Given the description of an element on the screen output the (x, y) to click on. 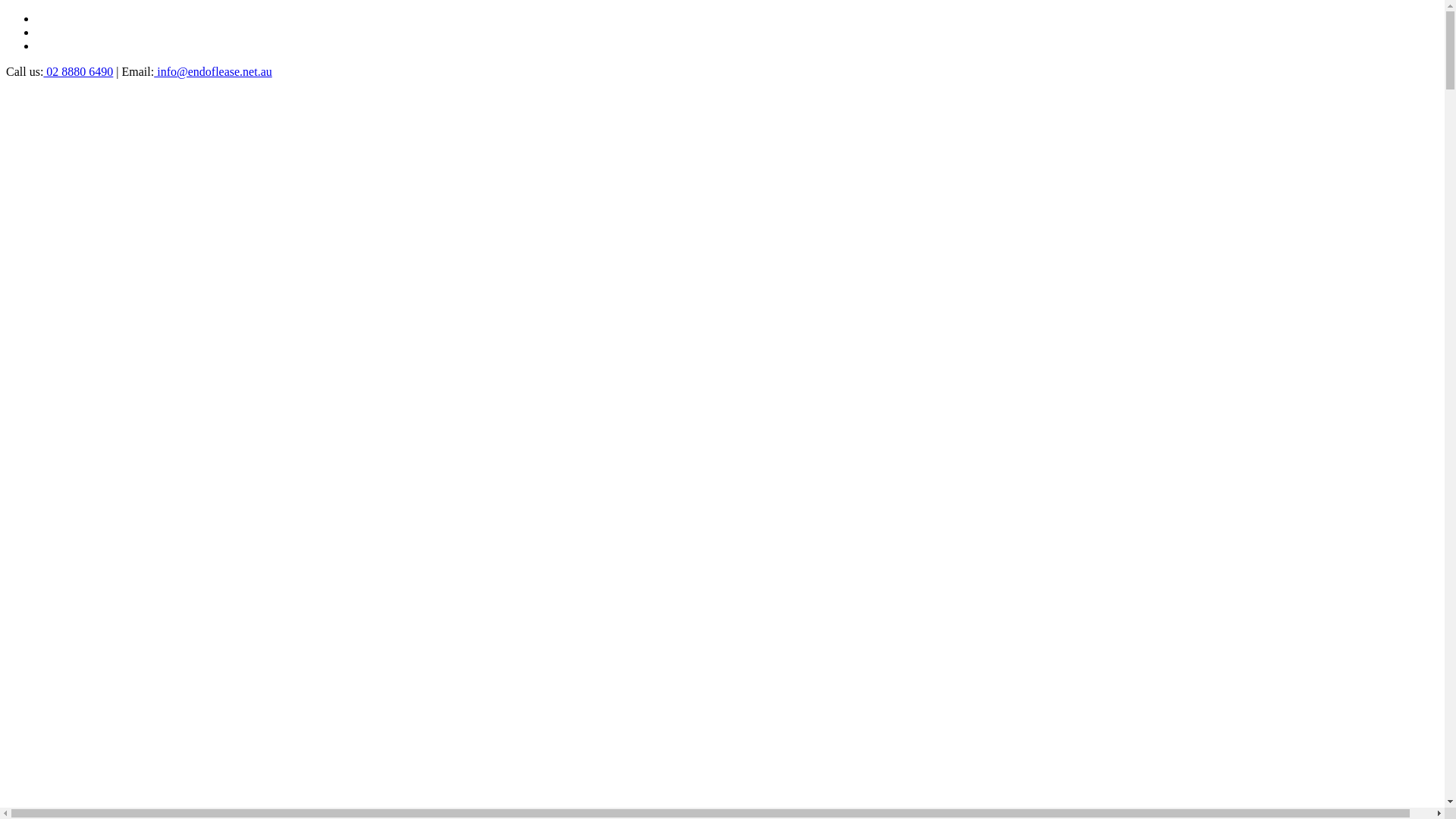
info@endoflease.net.au Element type: text (212, 71)
02 8880 6490 Element type: text (77, 71)
